Given the description of an element on the screen output the (x, y) to click on. 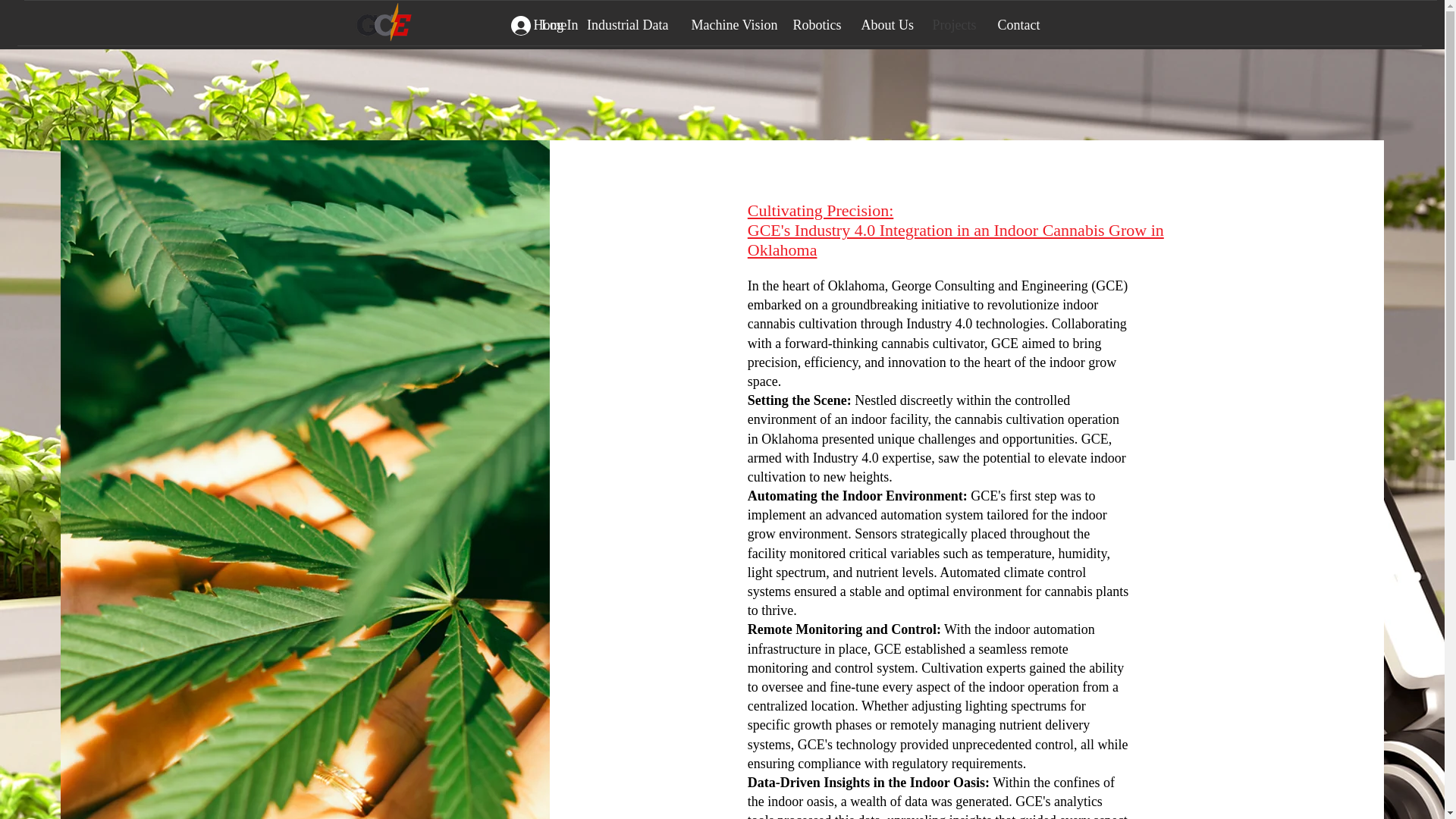
Projects (952, 17)
Robotics (814, 17)
Machine Vision (729, 17)
About Us (884, 17)
Home (548, 17)
Log In (544, 25)
Contact (1017, 17)
Industrial Data (627, 17)
